Given the description of an element on the screen output the (x, y) to click on. 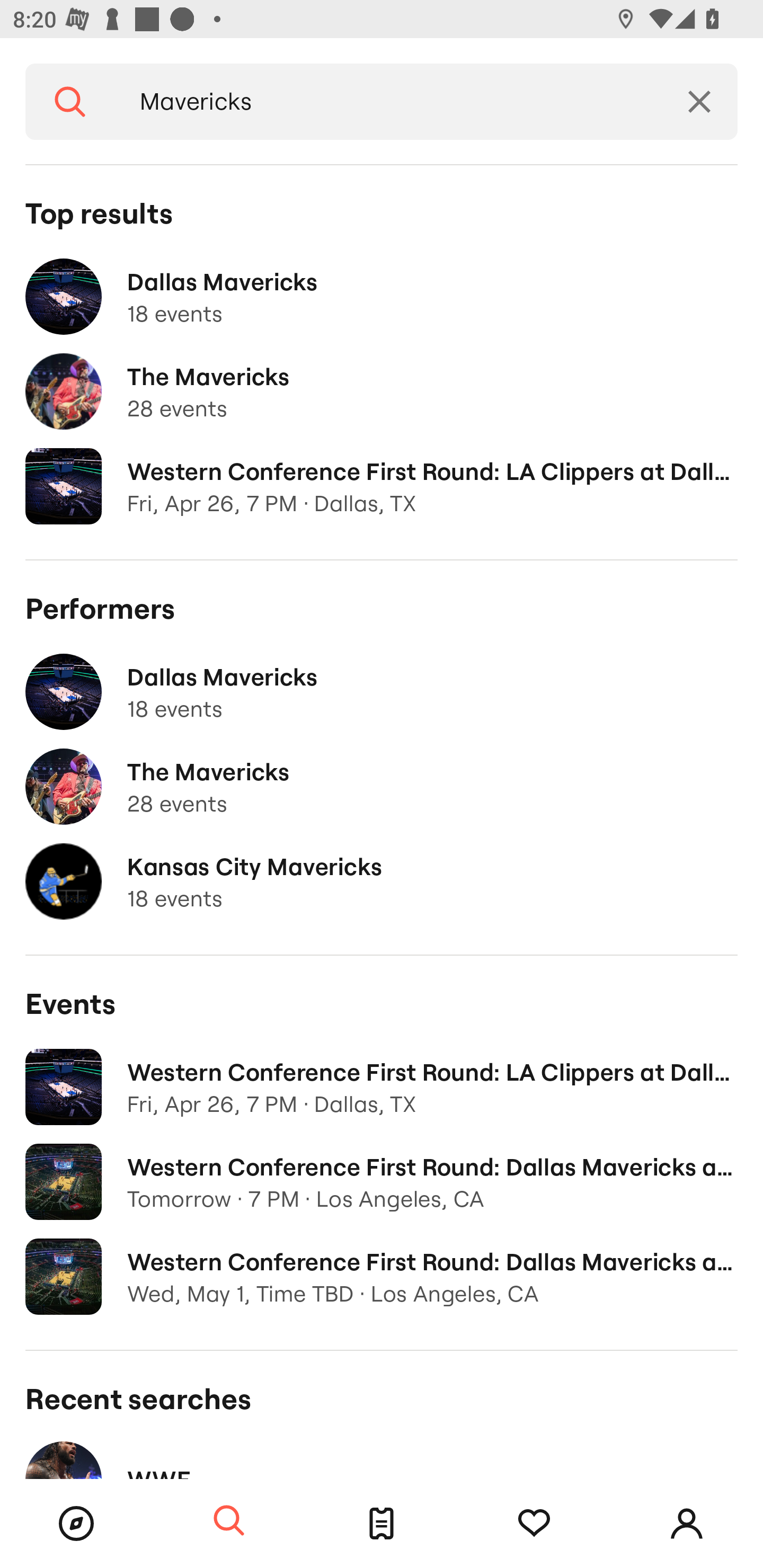
Search (69, 101)
Mavericks (387, 101)
Clear (699, 101)
Dallas Mavericks 18 events (381, 296)
The Mavericks 28 events (381, 391)
Dallas Mavericks 18 events (381, 692)
The Mavericks 28 events (381, 787)
Kansas City Mavericks 18 events (381, 881)
Browse (76, 1523)
Search (228, 1521)
Tickets (381, 1523)
Tracking (533, 1523)
Account (686, 1523)
